Given the description of an element on the screen output the (x, y) to click on. 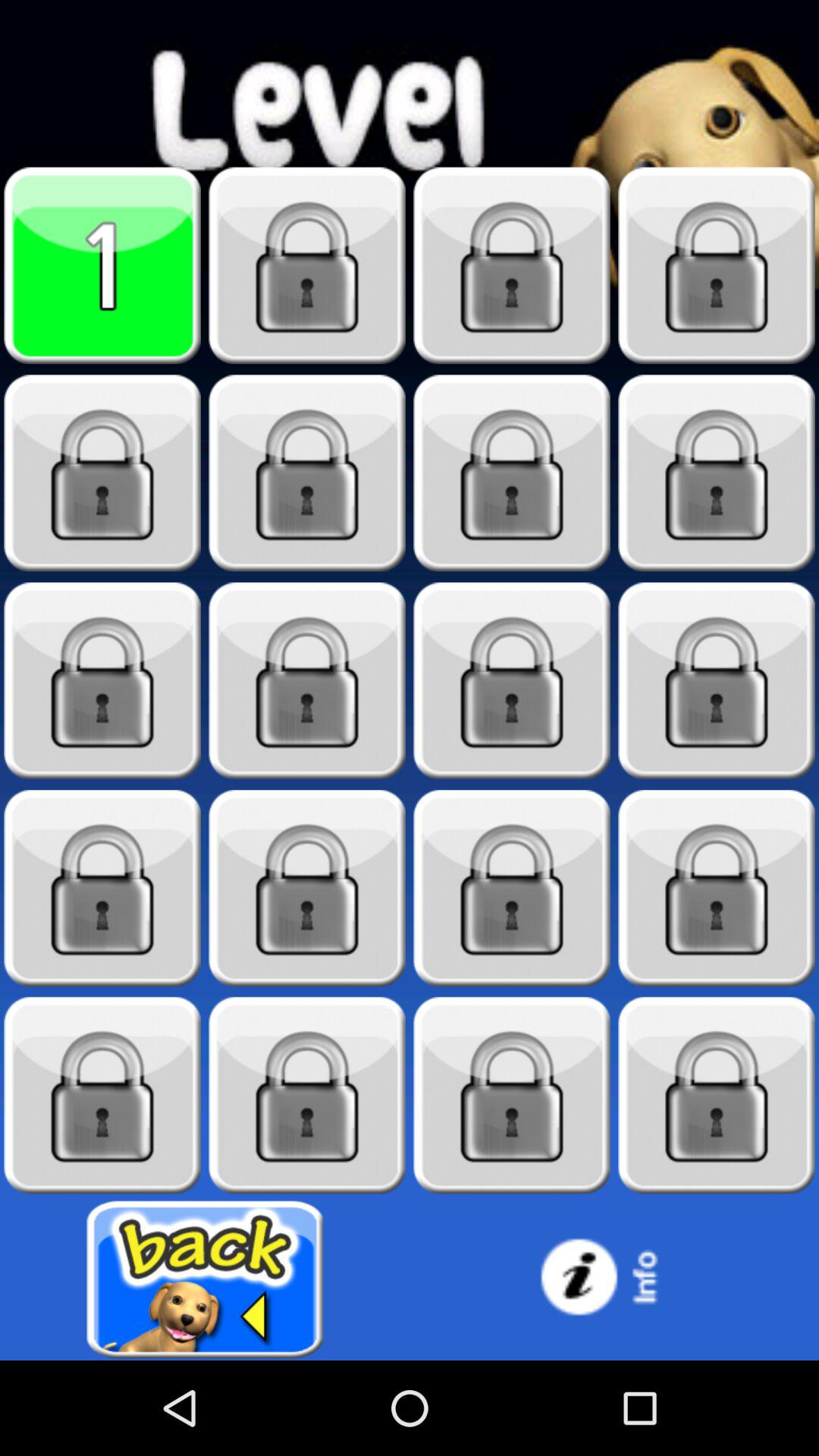
unlock level 16 (716, 887)
